Given the description of an element on the screen output the (x, y) to click on. 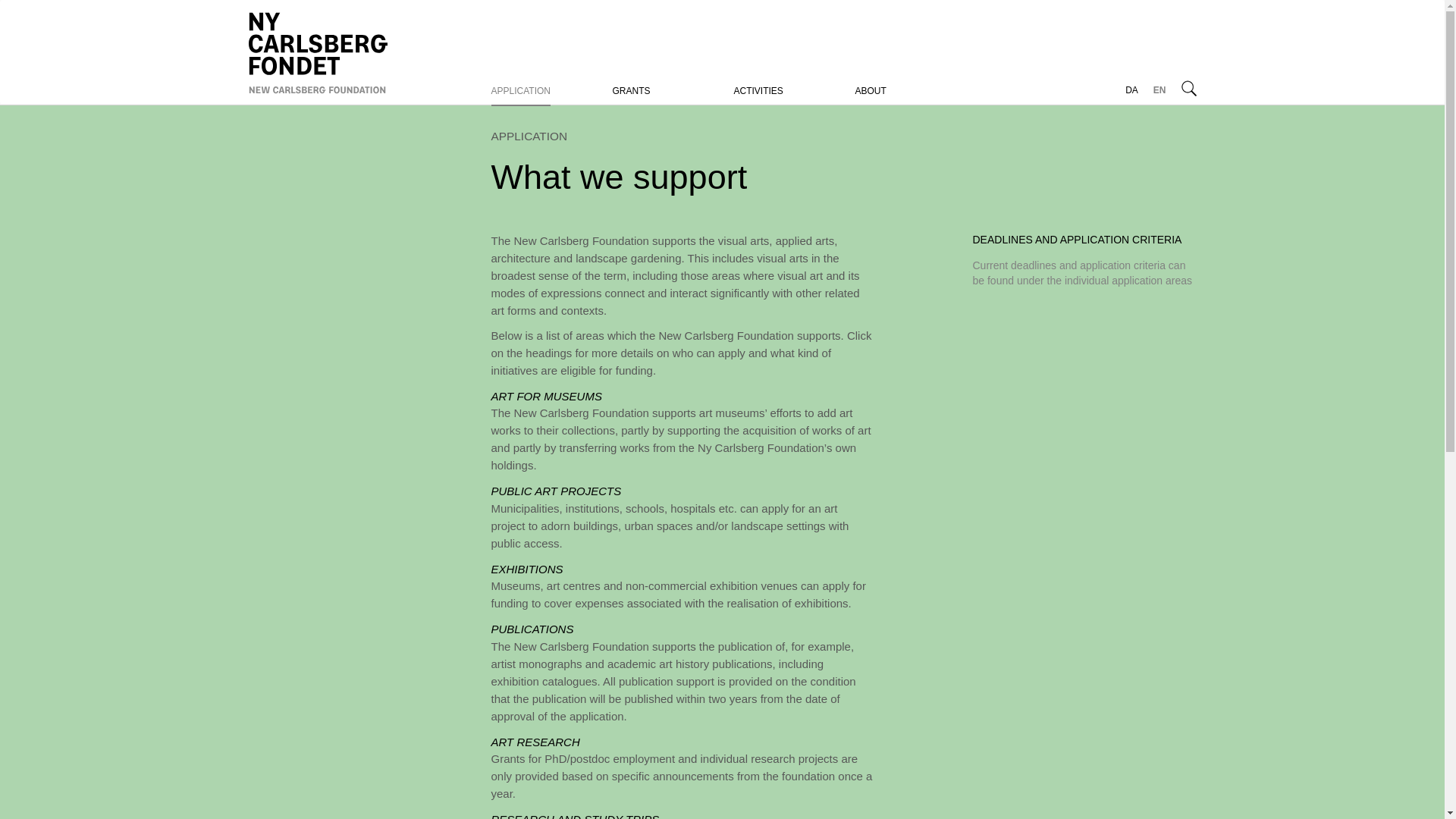
Research and study trips (575, 816)
Home (358, 50)
Funding for exhibitions (527, 568)
APPLICATION (521, 91)
Publications (532, 628)
Art Research (535, 741)
Public art projects (556, 490)
Art for museums (547, 395)
